Given the description of an element on the screen output the (x, y) to click on. 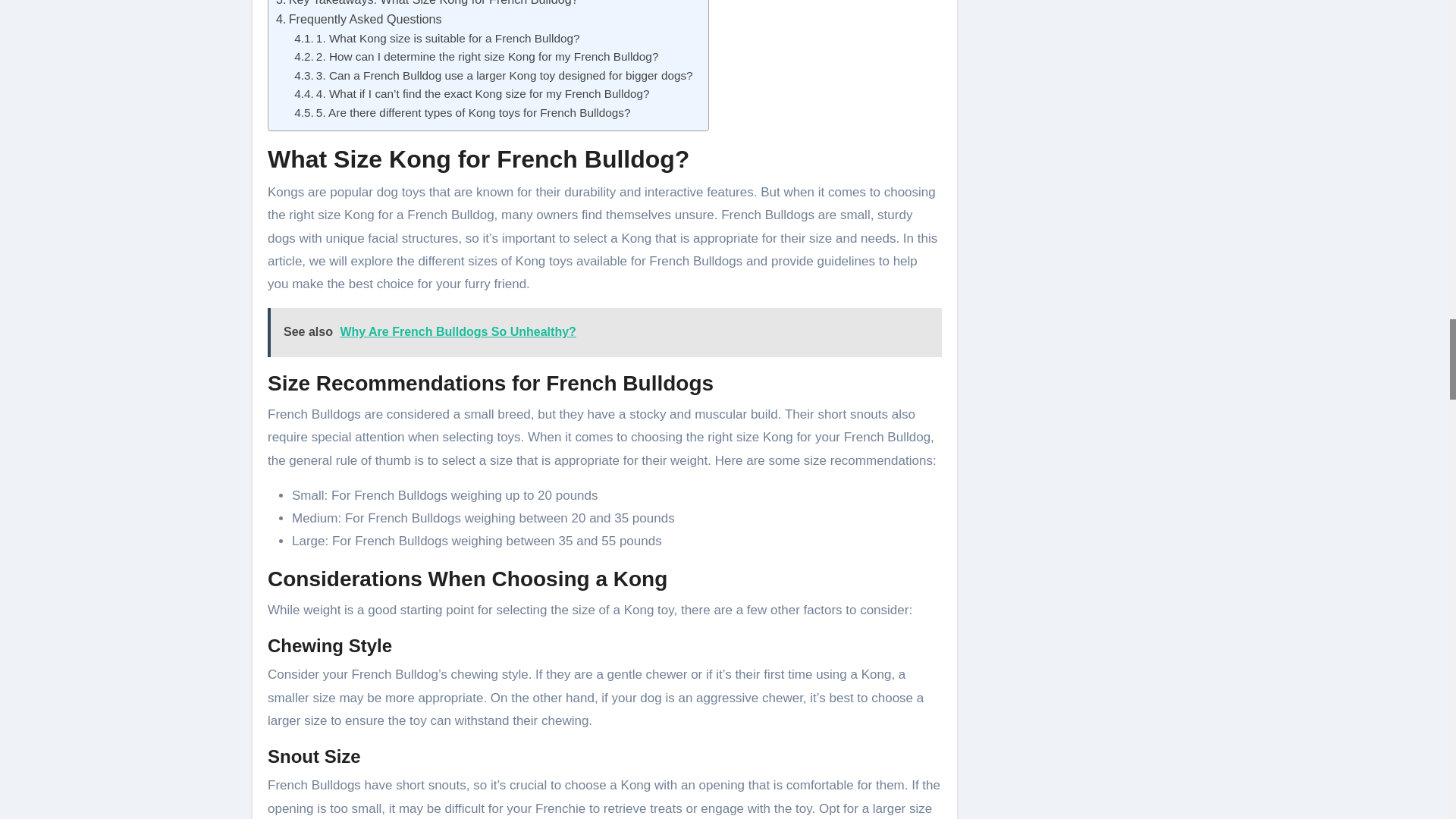
Key Takeaways: What Size Kong for French Bulldog? (427, 4)
Frequently Asked Questions (359, 19)
Key Takeaways: What Size Kong for French Bulldog? (427, 4)
See also  Why Are French Bulldogs So Unhealthy? (604, 331)
1. What Kong size is suitable for a French Bulldog? (436, 38)
1. What Kong size is suitable for a French Bulldog? (436, 38)
Frequently Asked Questions (359, 19)
